Given the description of an element on the screen output the (x, y) to click on. 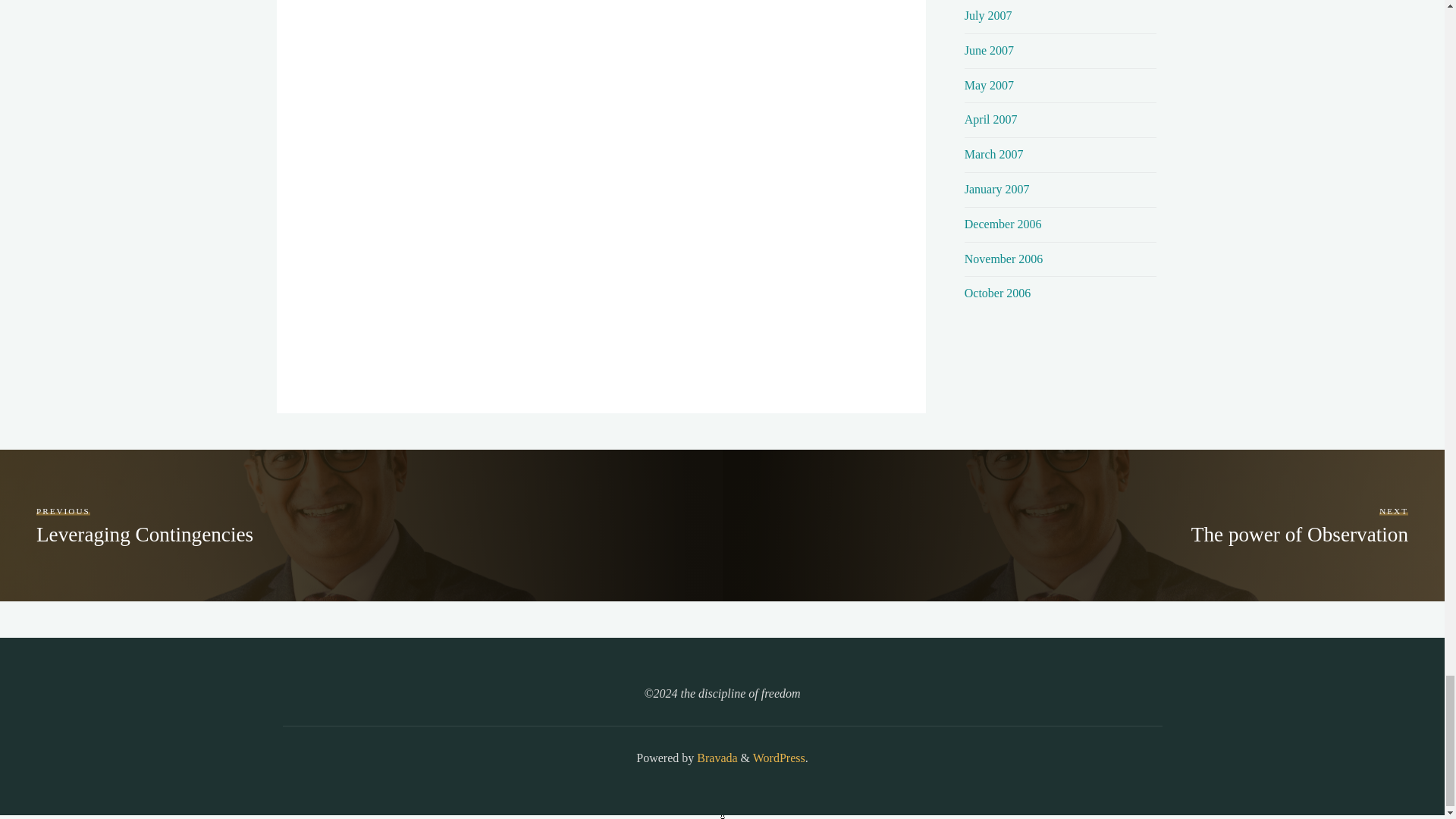
Bravada WordPress Theme by Cryout Creations (715, 757)
Semantic Personal Publishing Platform (778, 757)
